Given the description of an element on the screen output the (x, y) to click on. 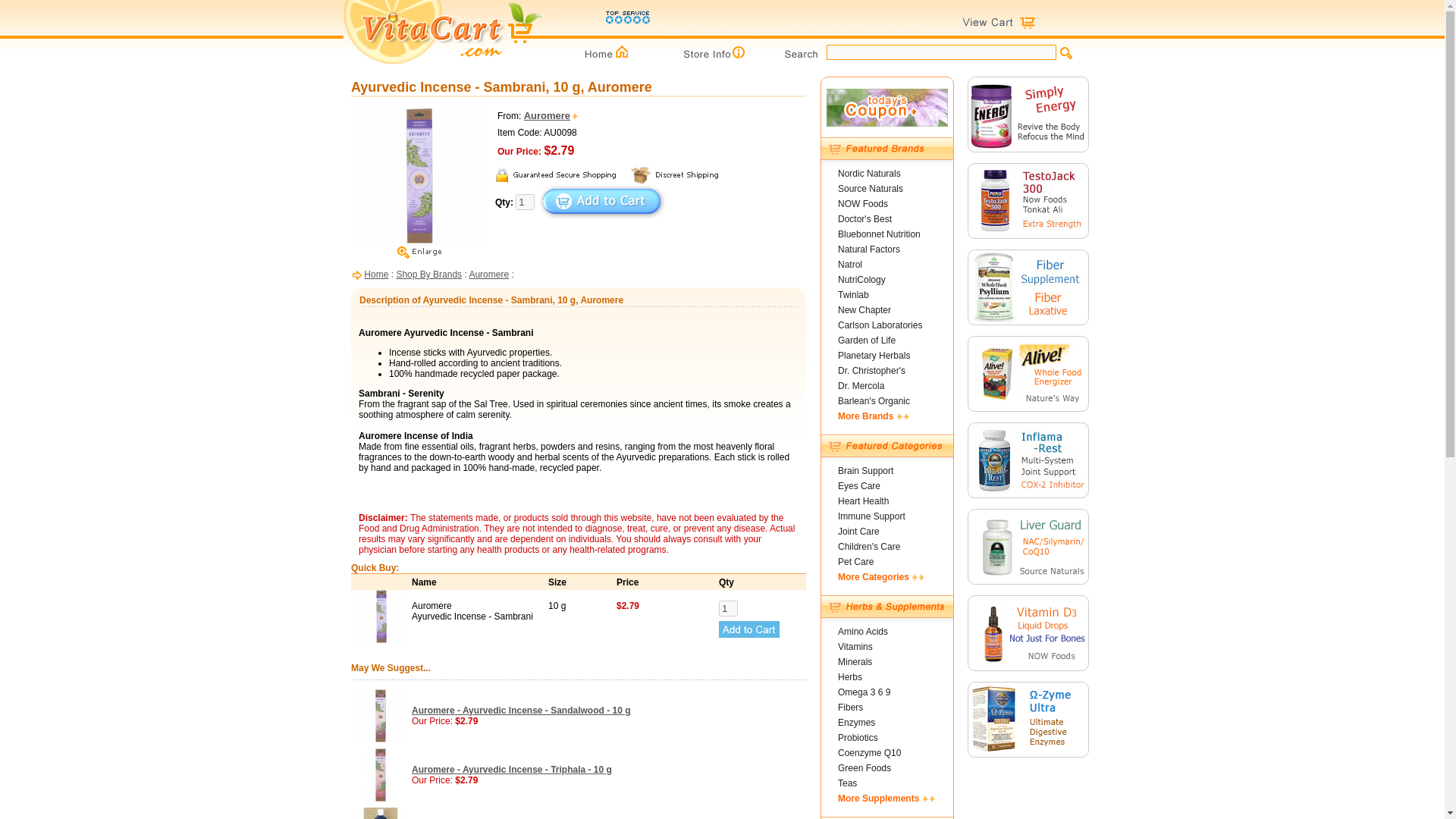
Auromere (551, 115)
Nordic Naturals (869, 173)
Barlean's Organic (874, 400)
NutriCology (861, 279)
Source Naturals (870, 188)
More Brands (874, 416)
Dr. Mercola (860, 385)
Dr. Christopher's (871, 370)
Home (376, 274)
1 (728, 608)
Carlson Laboratories (879, 325)
Auromere - Ayurvedic Incense - Triphala - 10 g (511, 769)
Brain Support (865, 470)
Twinlab (853, 294)
Bluebonnet Nutrition (879, 234)
